Given the description of an element on the screen output the (x, y) to click on. 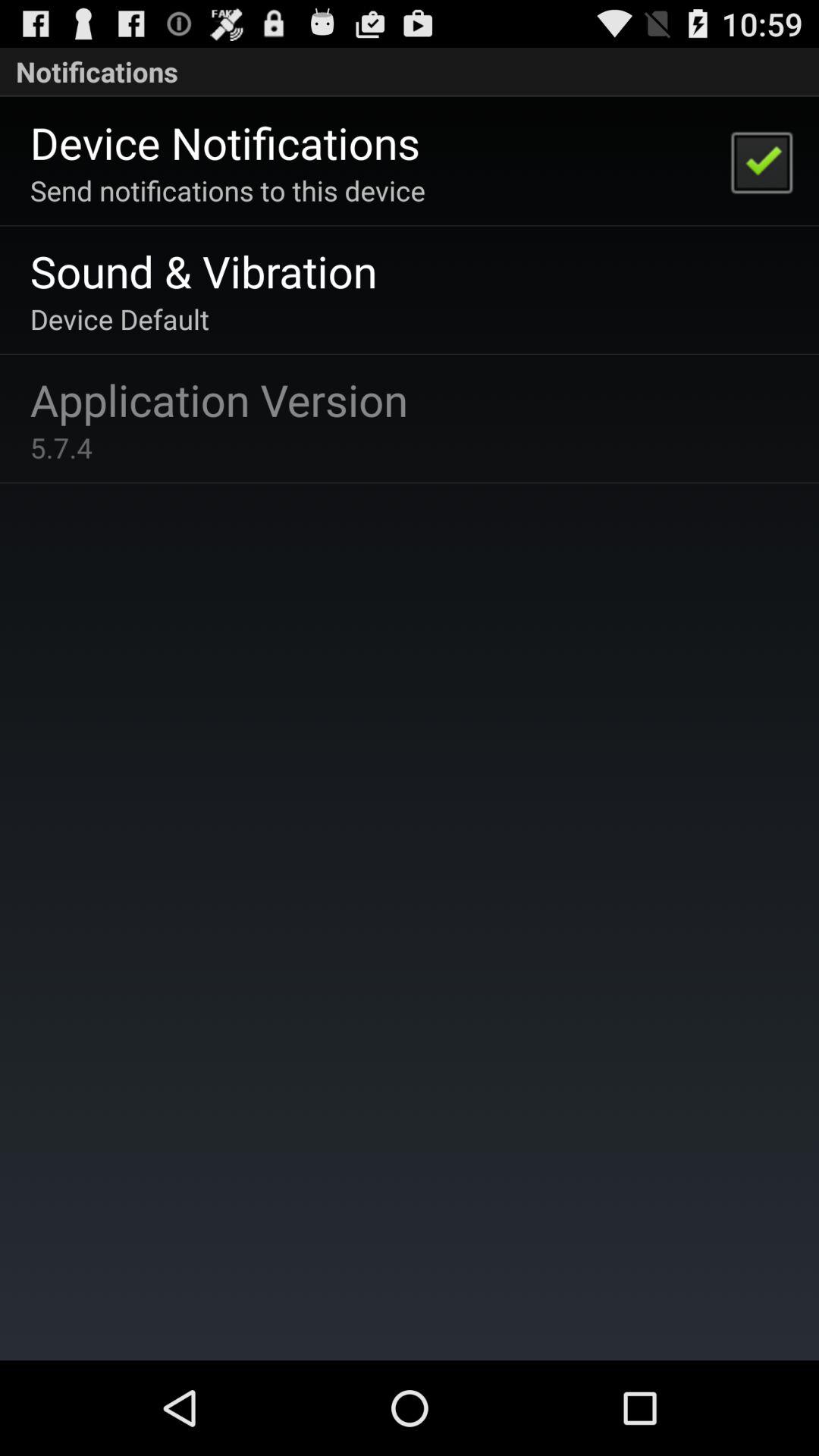
turn on the item next to send notifications to app (761, 161)
